Given the description of an element on the screen output the (x, y) to click on. 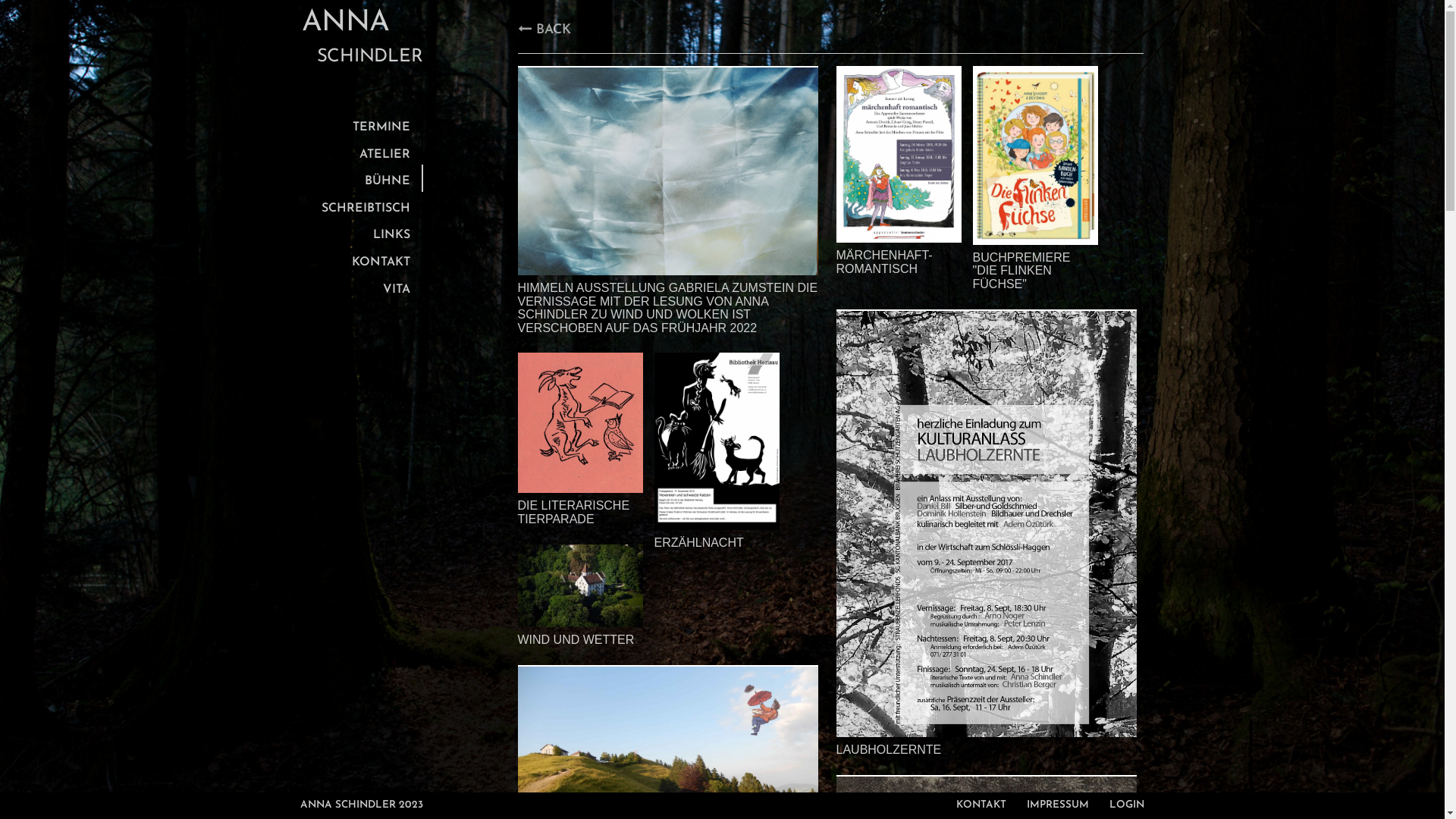
SCHREIBTISCH Element type: text (362, 205)
ATELIER Element type: text (362, 151)
WIND UND WETTER Element type: text (579, 639)
KONTAKT Element type: text (362, 259)
VITA Element type: text (362, 286)
LINKS Element type: text (362, 231)
ANNA
SCHINDLER Element type: text (362, 43)
BACK Element type: text (543, 29)
DIE LITERARISCHE TIERPARADE Element type: text (579, 511)
TERMINE Element type: text (362, 124)
LAUBHOLZERNTE Element type: text (985, 749)
